Given the description of an element on the screen output the (x, y) to click on. 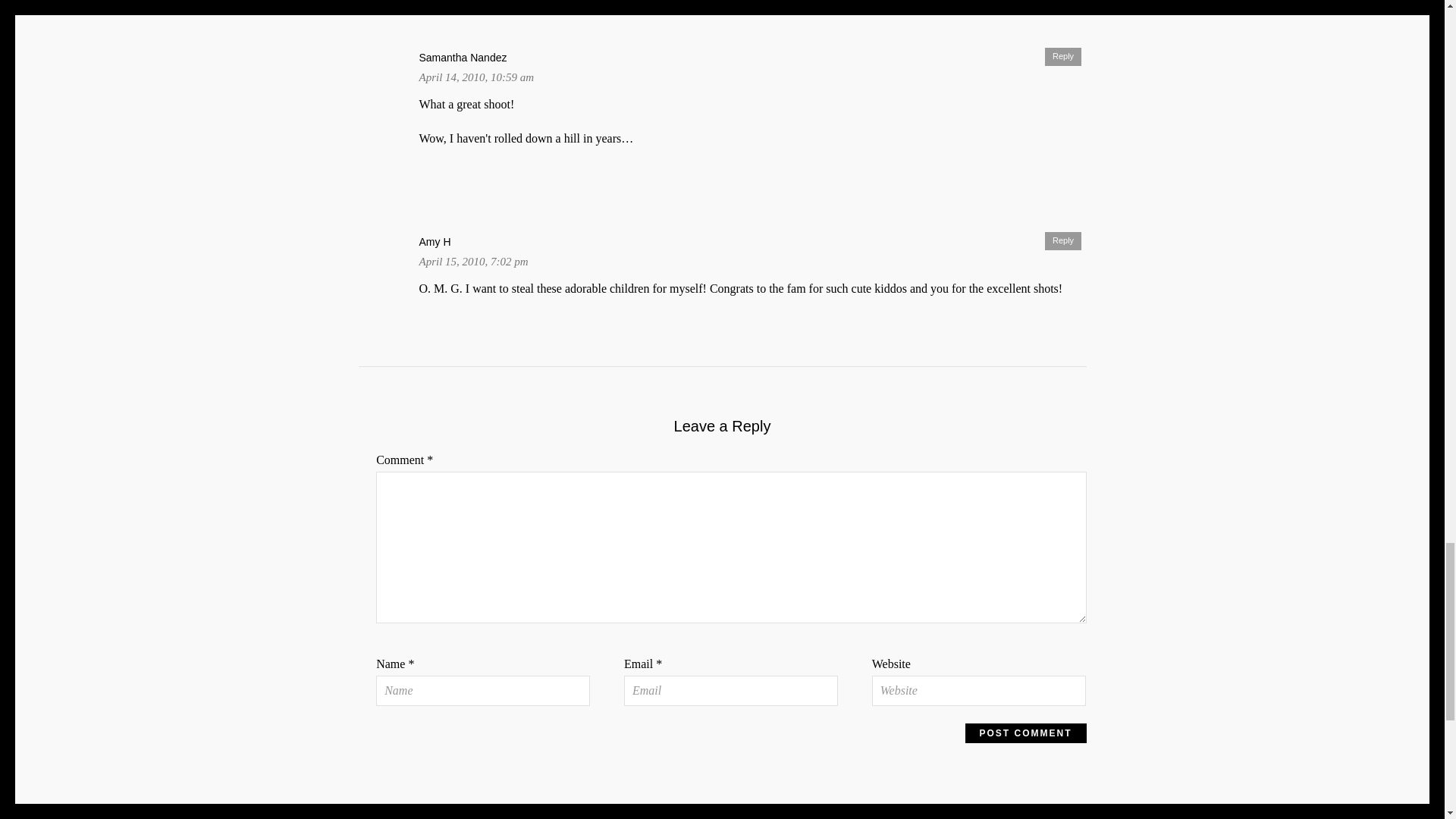
Reply (1063, 56)
Post Comment (1024, 732)
Post Comment (1024, 732)
Reply (1063, 240)
